Given the description of an element on the screen output the (x, y) to click on. 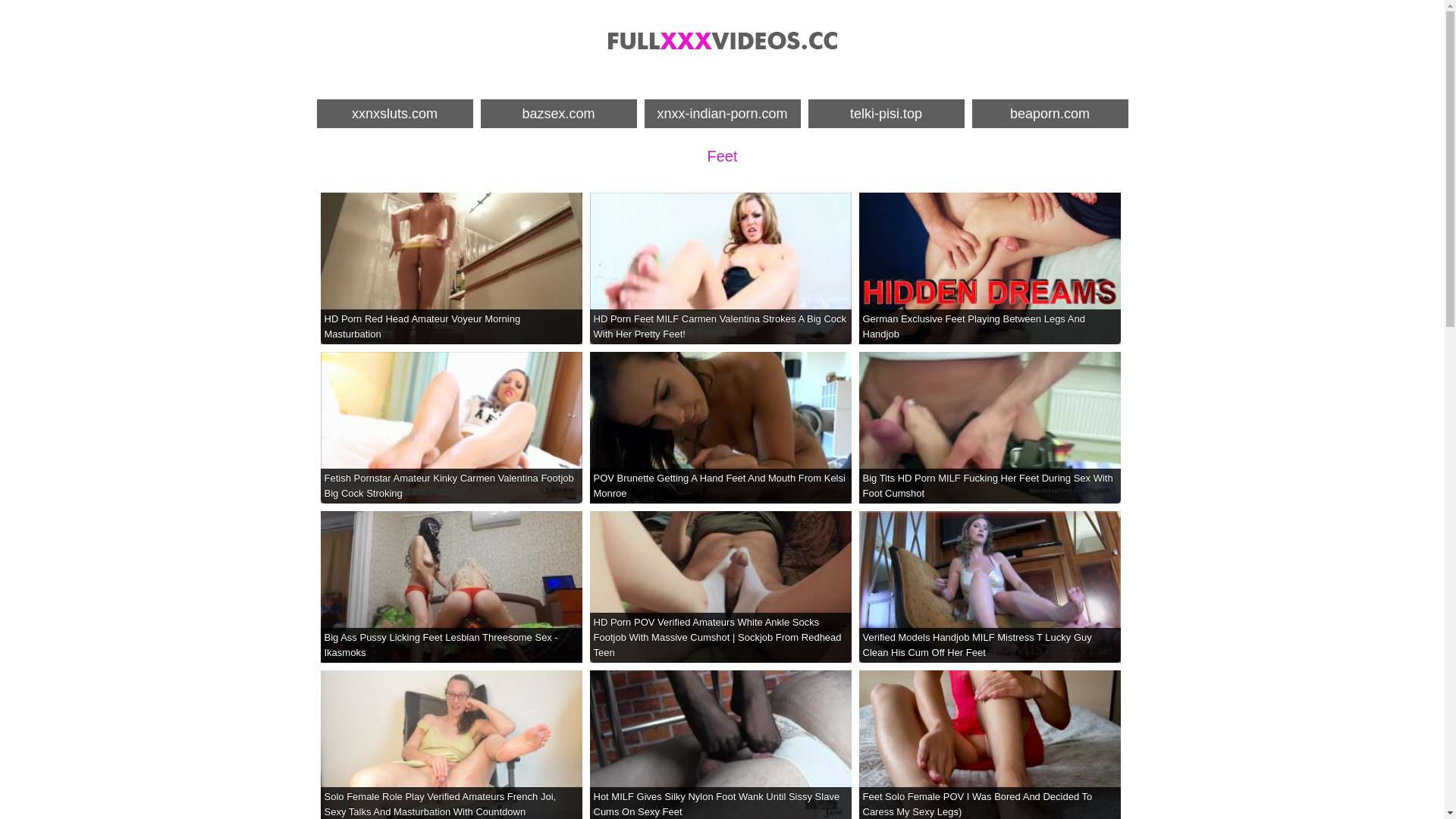
German Exclusive Feet Playing Between Legs And Handjob Element type: text (989, 268)
xxnxsluts.com Element type: text (394, 113)
Porn Videos Full, XXX Videos Free - Full XXX Videos Element type: hover (721, 39)
POV Brunette Getting A Hand Feet And Mouth From Kelsi Monroe Element type: text (720, 427)
xnxx-indian-porn.com Element type: text (722, 113)
HD Porn Red Head Amateur Voyeur Morning Masturbation Element type: text (450, 268)
Big Ass Pussy Licking Feet Lesbian Threesome Sex - Ikasmoks Element type: text (450, 586)
telki-pisi.top Element type: text (886, 113)
beaporn.com Element type: text (1050, 113)
bazsex.com Element type: text (558, 113)
